Given the description of an element on the screen output the (x, y) to click on. 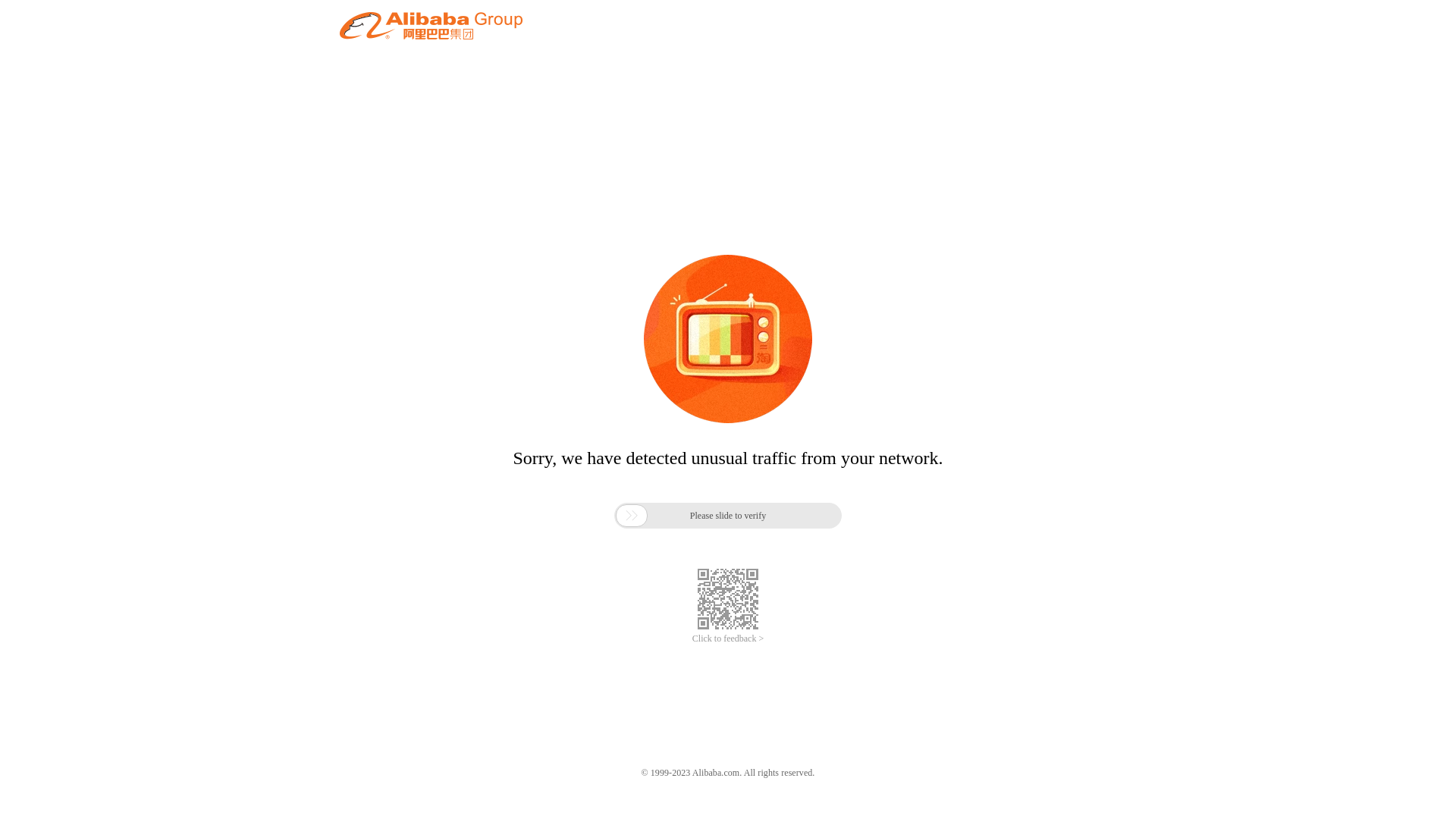
Click to feedback > Element type: text (727, 638)
